Given the description of an element on the screen output the (x, y) to click on. 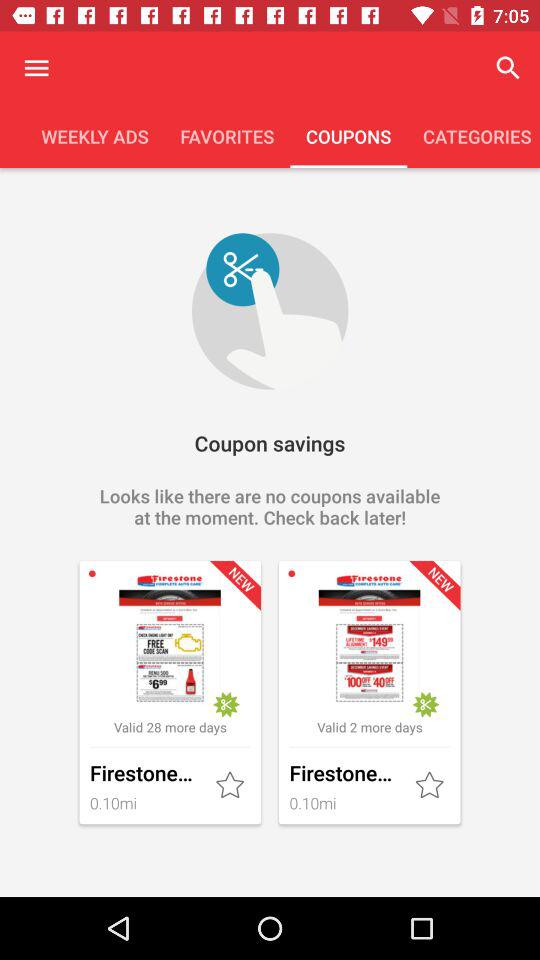
tap the item above the weekly ads item (36, 68)
